Given the description of an element on the screen output the (x, y) to click on. 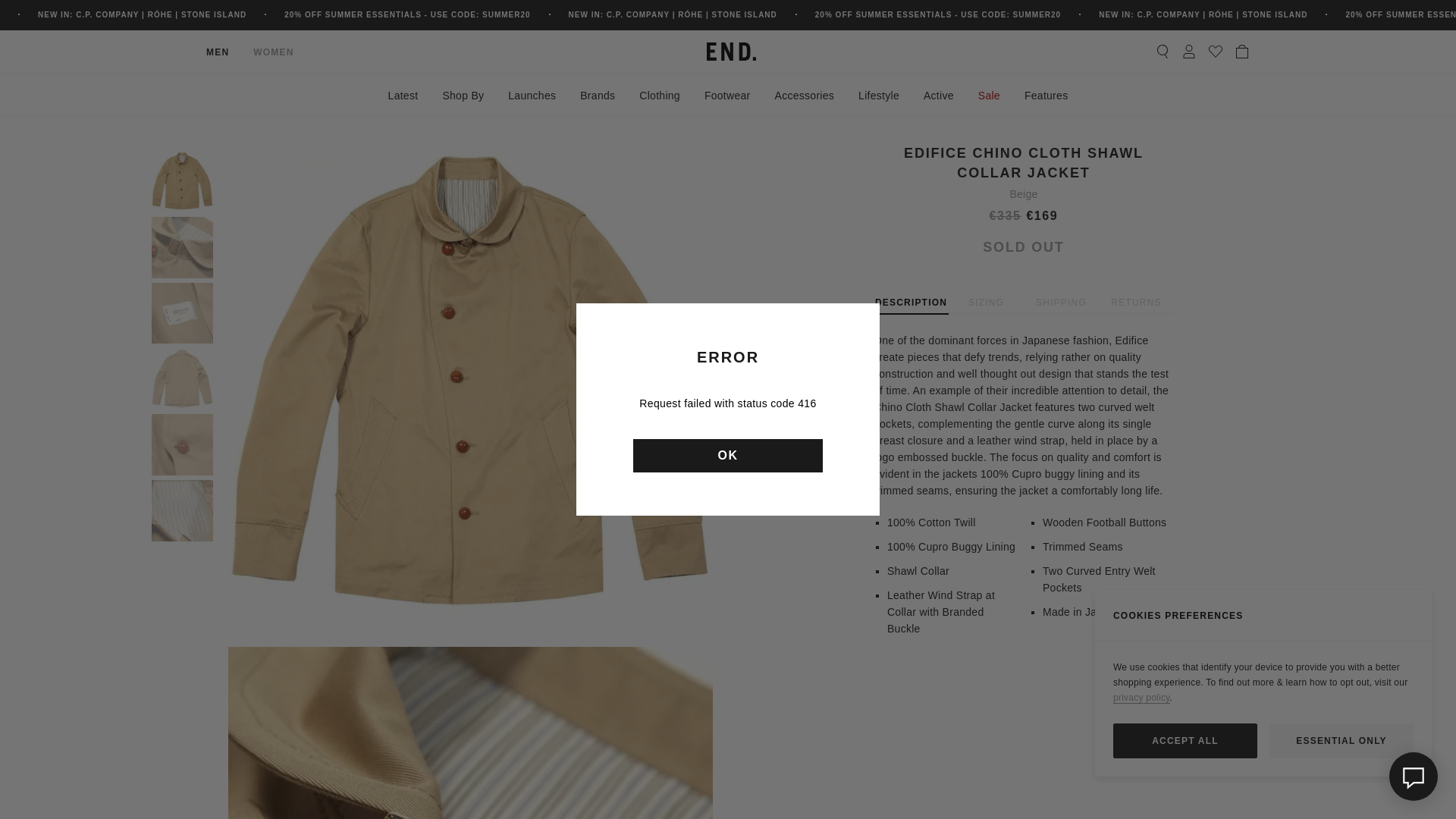
OK (727, 455)
ESSENTIAL ONLY (1341, 740)
ACCEPT ALL (1185, 740)
privacy policy (1141, 697)
